Given the description of an element on the screen output the (x, y) to click on. 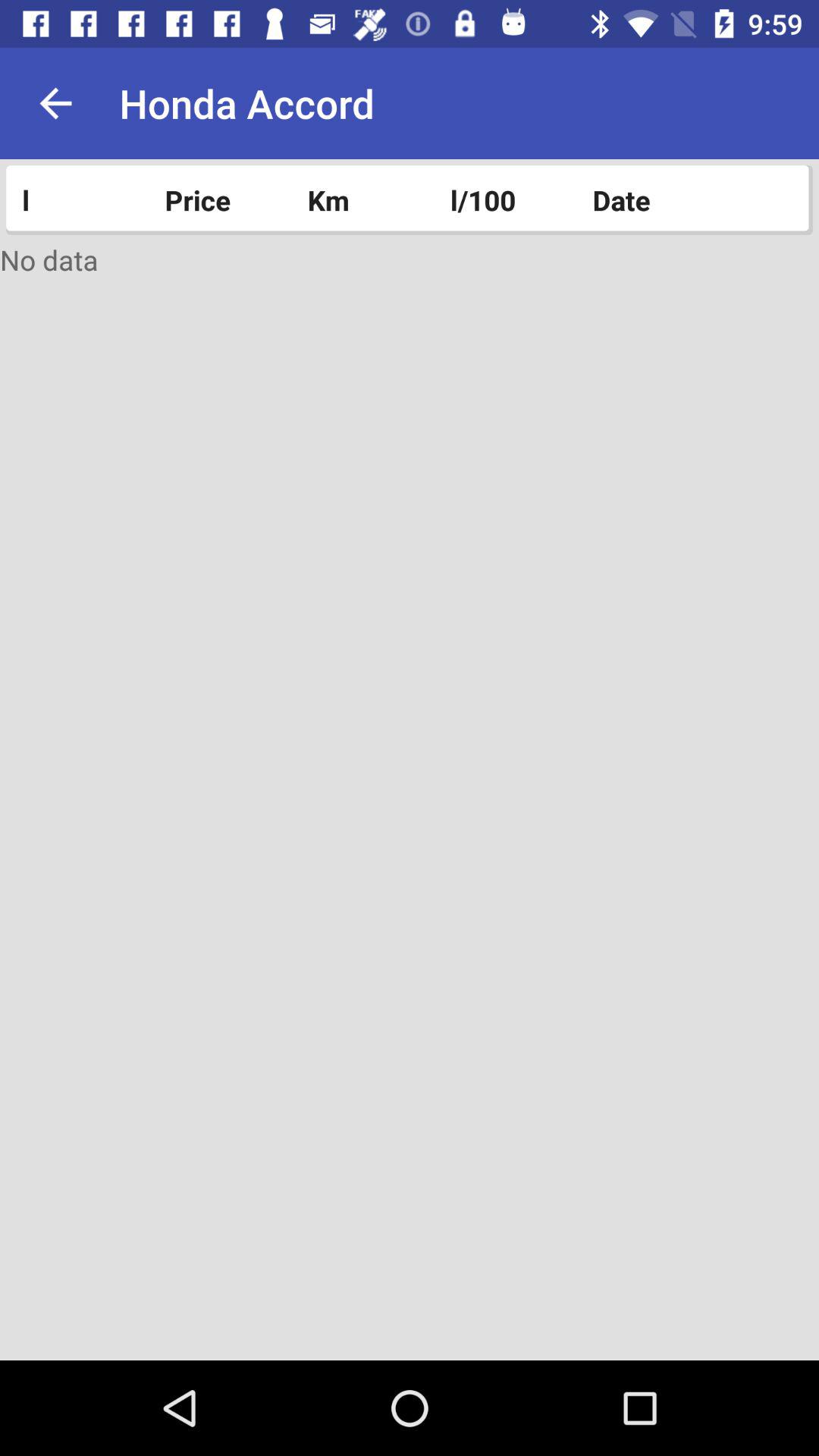
launch the item above the l icon (55, 103)
